Given the description of an element on the screen output the (x, y) to click on. 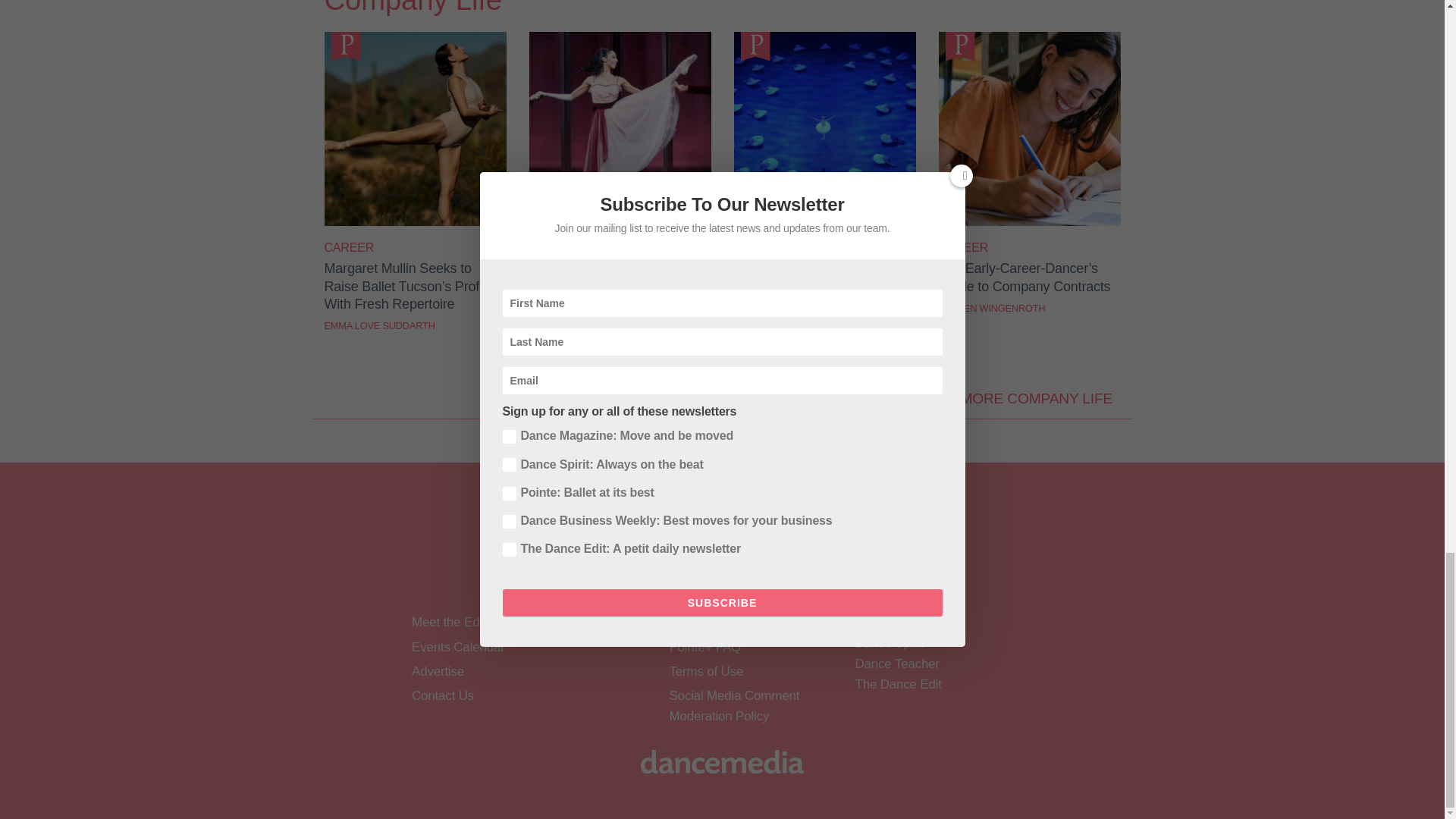
Follow on Instagram (702, 579)
Follow on Pinterest (780, 579)
Follow on Twitter (662, 579)
Follow on Youtube (741, 579)
Follow on Facebook (623, 579)
